Given the description of an element on the screen output the (x, y) to click on. 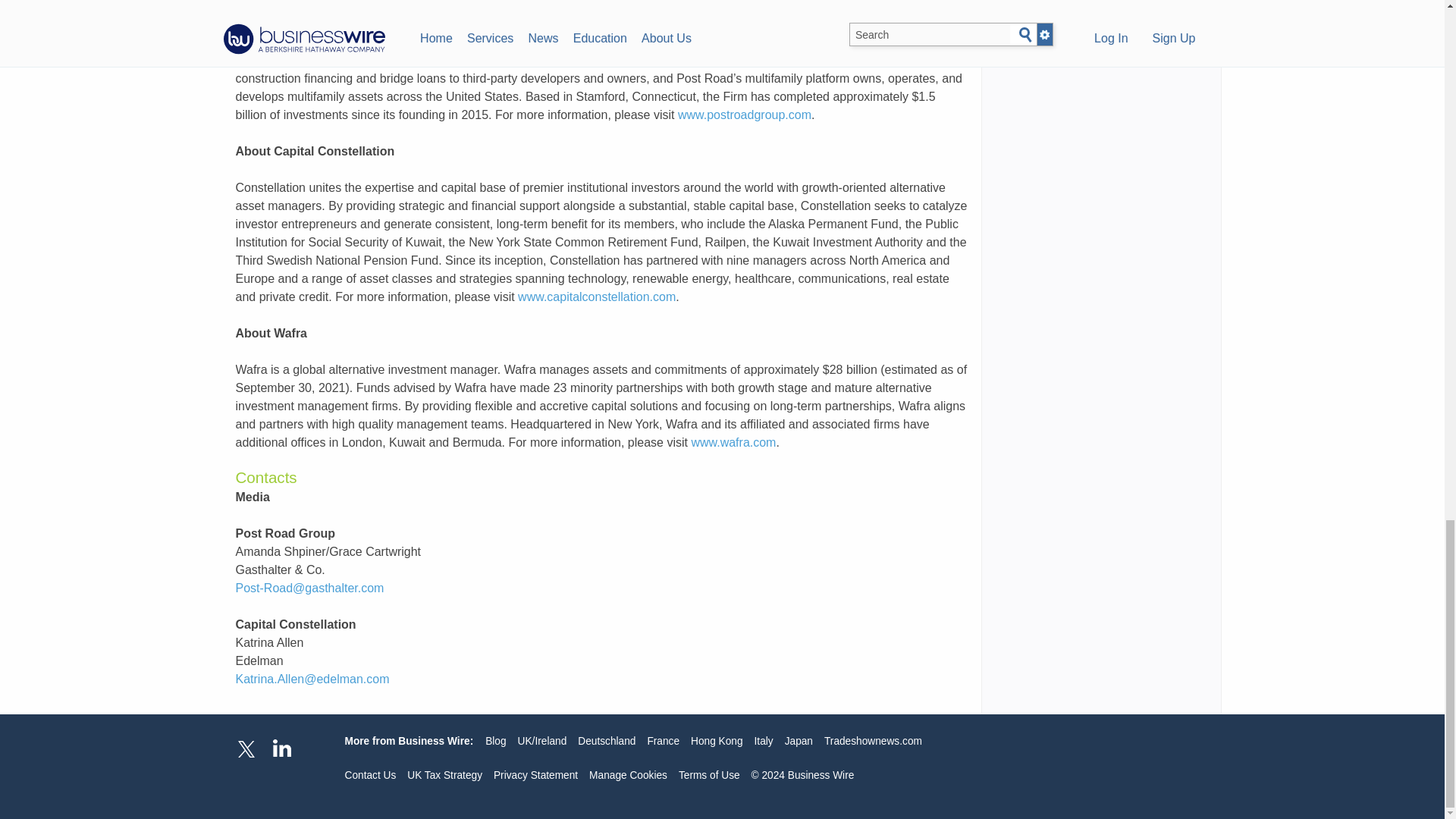
www.postroadgroup.com (744, 114)
www.capitalconstellation.com (596, 296)
www.wafra.com (733, 441)
